Given the description of an element on the screen output the (x, y) to click on. 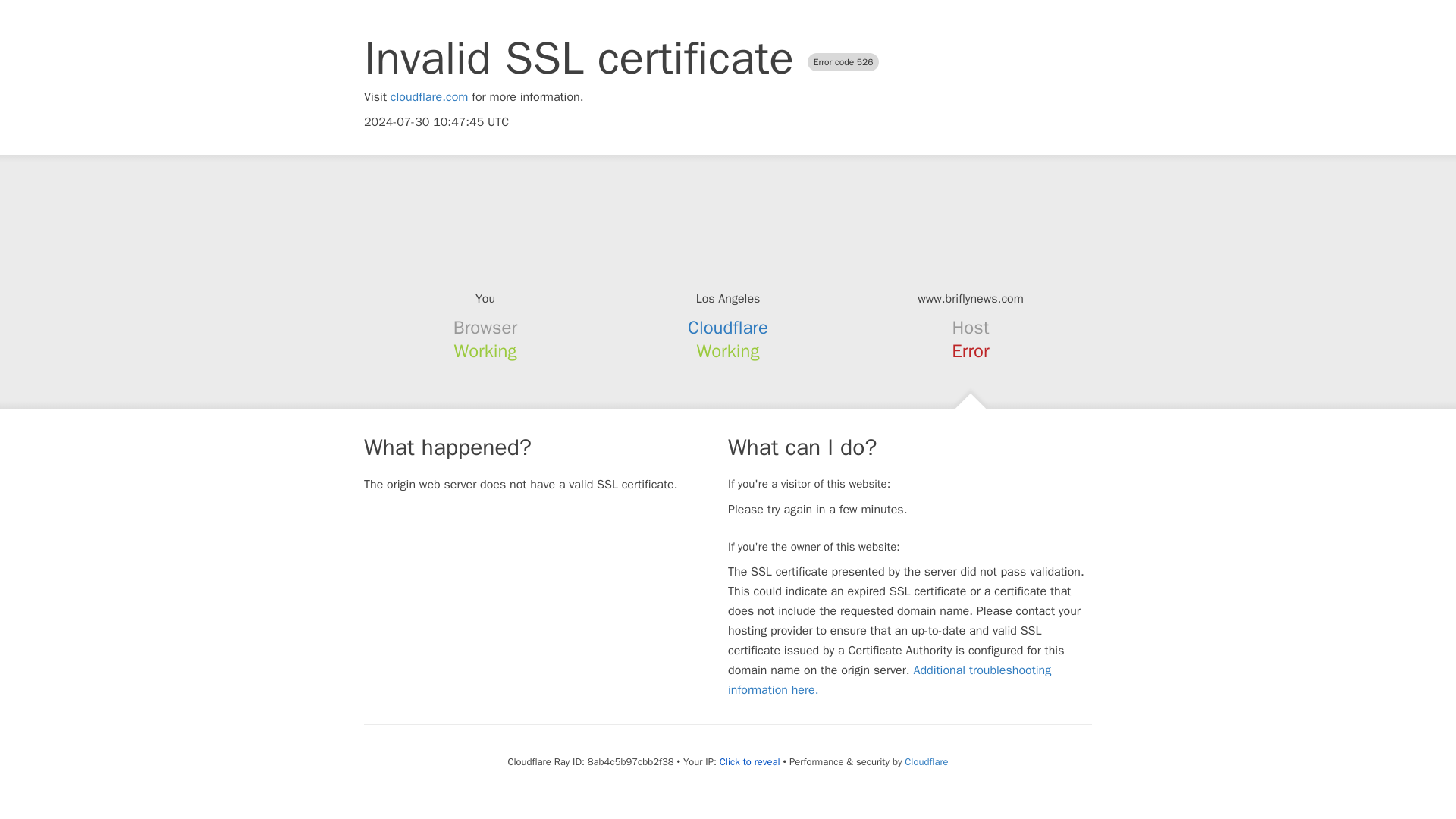
cloudflare.com (429, 96)
Cloudflare (727, 327)
Click to reveal (749, 762)
Cloudflare (925, 761)
Additional troubleshooting information here. (889, 679)
